Given the description of an element on the screen output the (x, y) to click on. 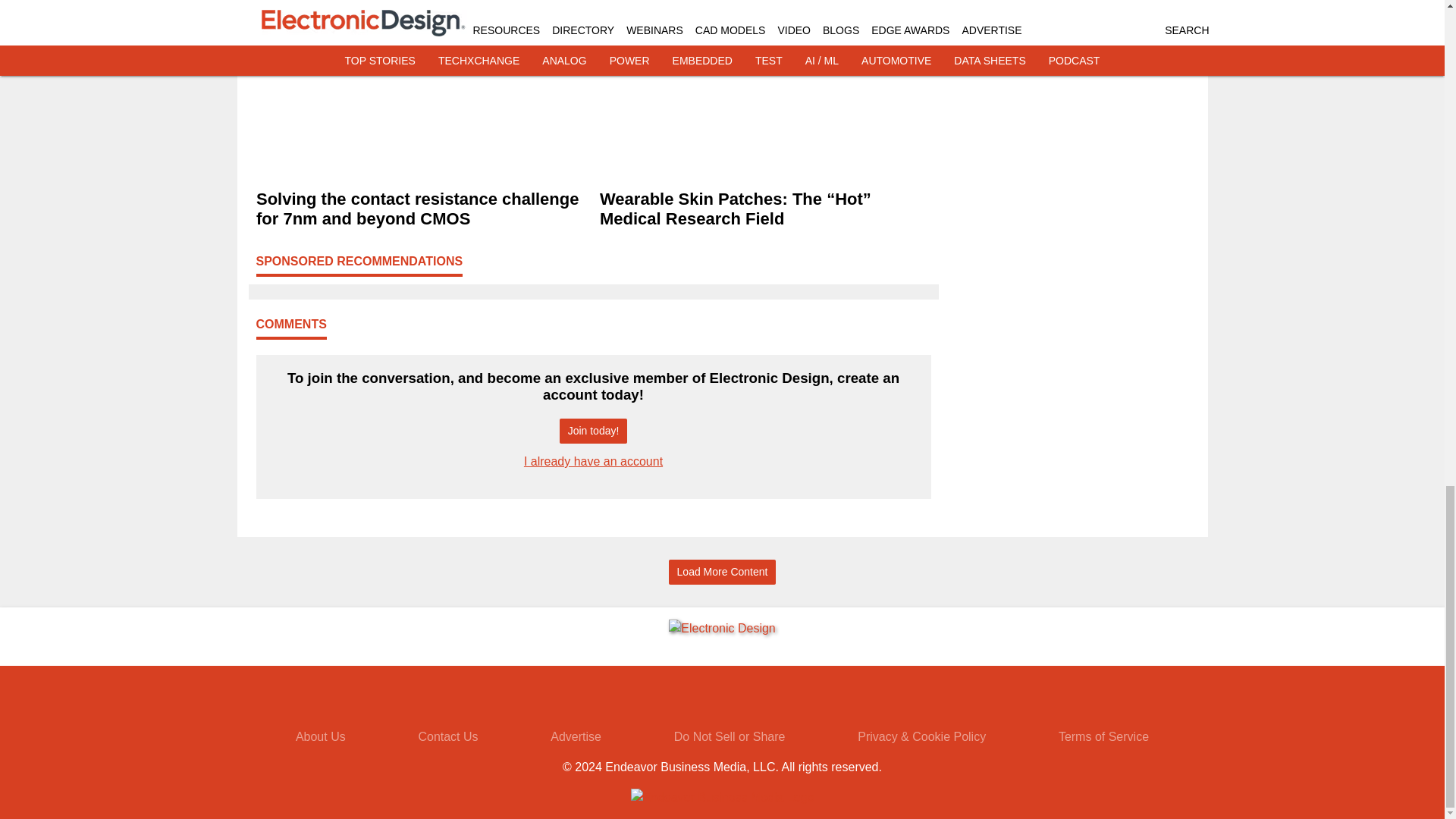
Join today! (593, 430)
I already have an account (593, 461)
